Given the description of an element on the screen output the (x, y) to click on. 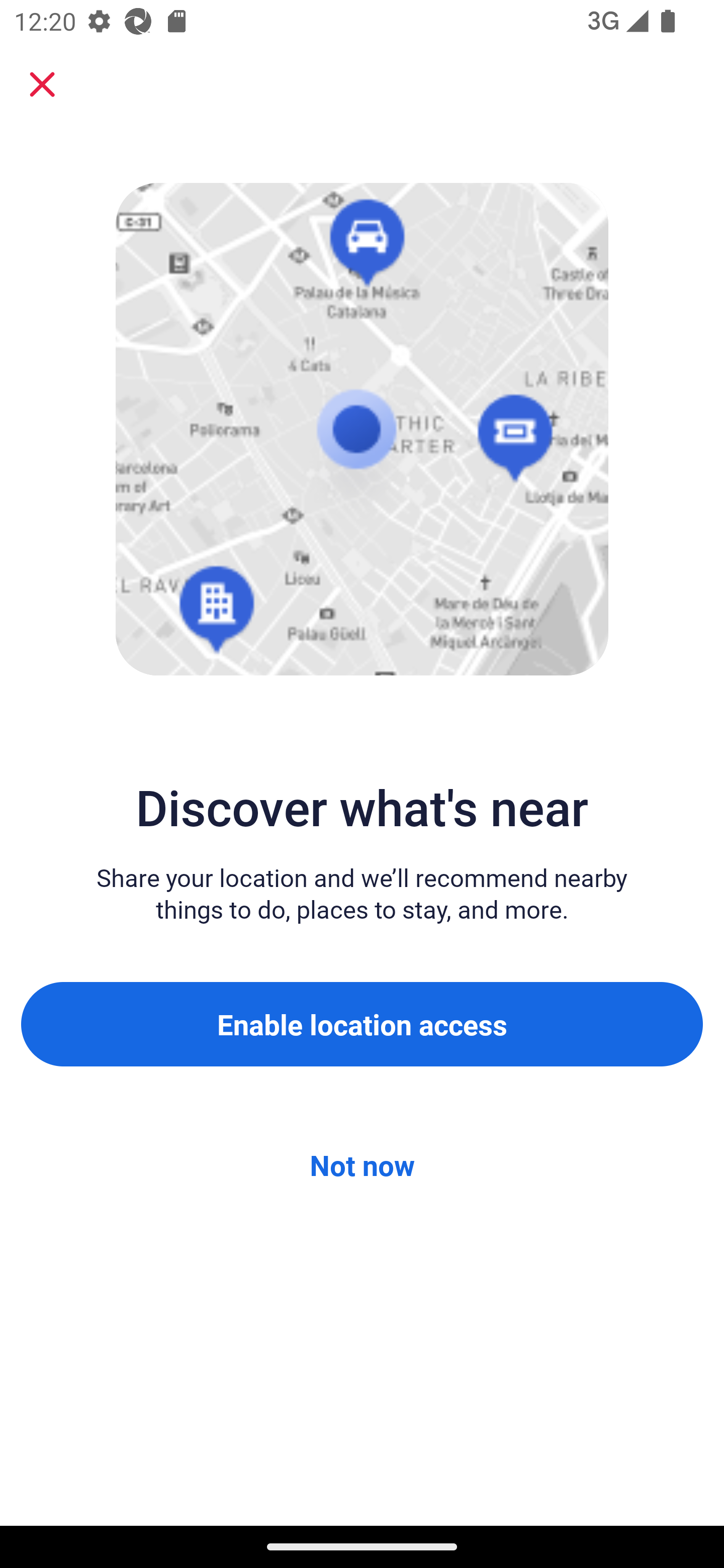
Close sheet (42, 84)
Enable location access (361, 1023)
Not now (362, 1164)
